Given the description of an element on the screen output the (x, y) to click on. 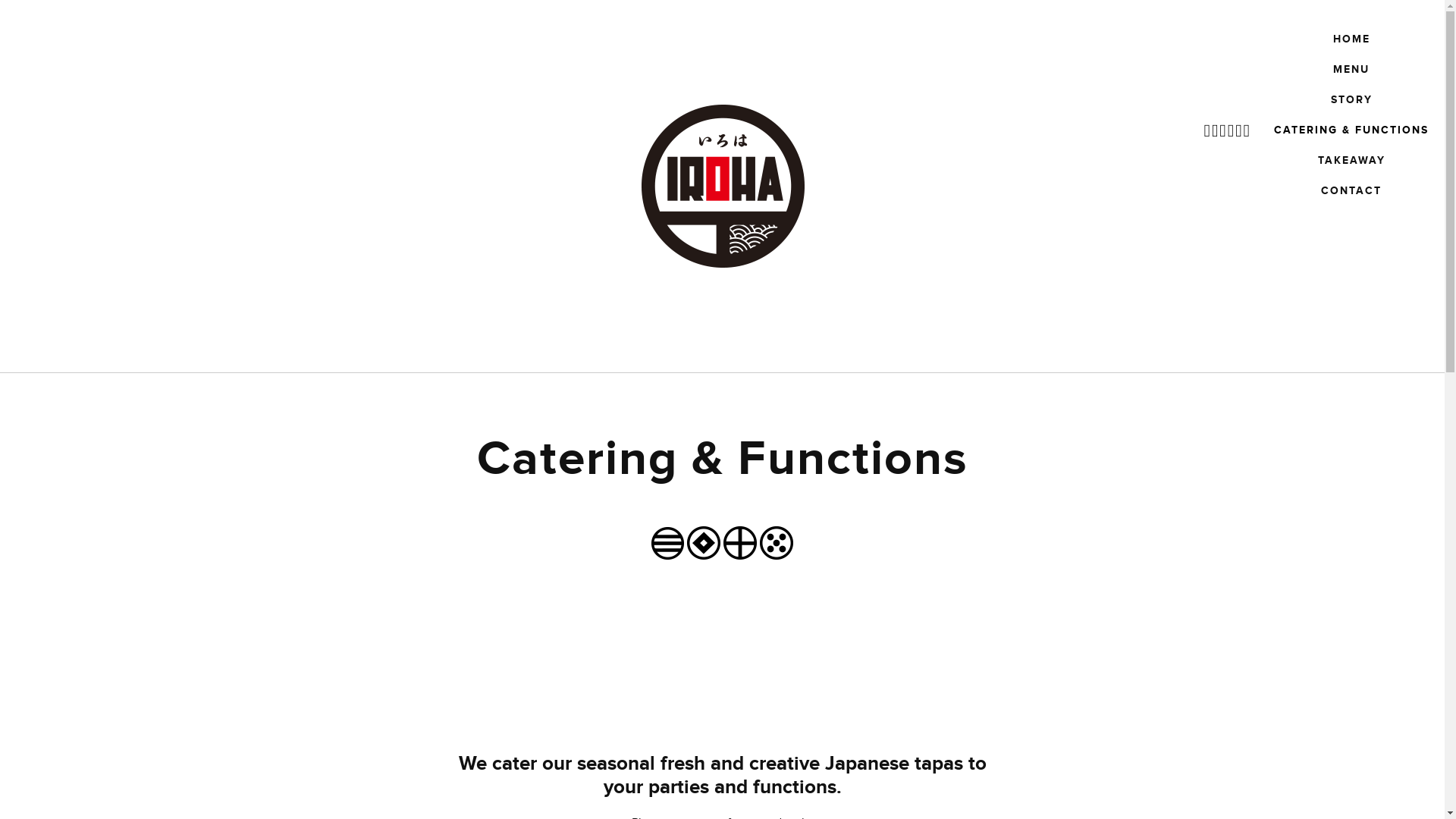
TAKEAWAY Element type: text (1351, 160)
Iroha Element type: hover (722, 185)
STORY Element type: text (1350, 99)
MENU Element type: text (1351, 69)
CONTACT Element type: text (1351, 190)
HOME Element type: text (1351, 39)
